Given the description of an element on the screen output the (x, y) to click on. 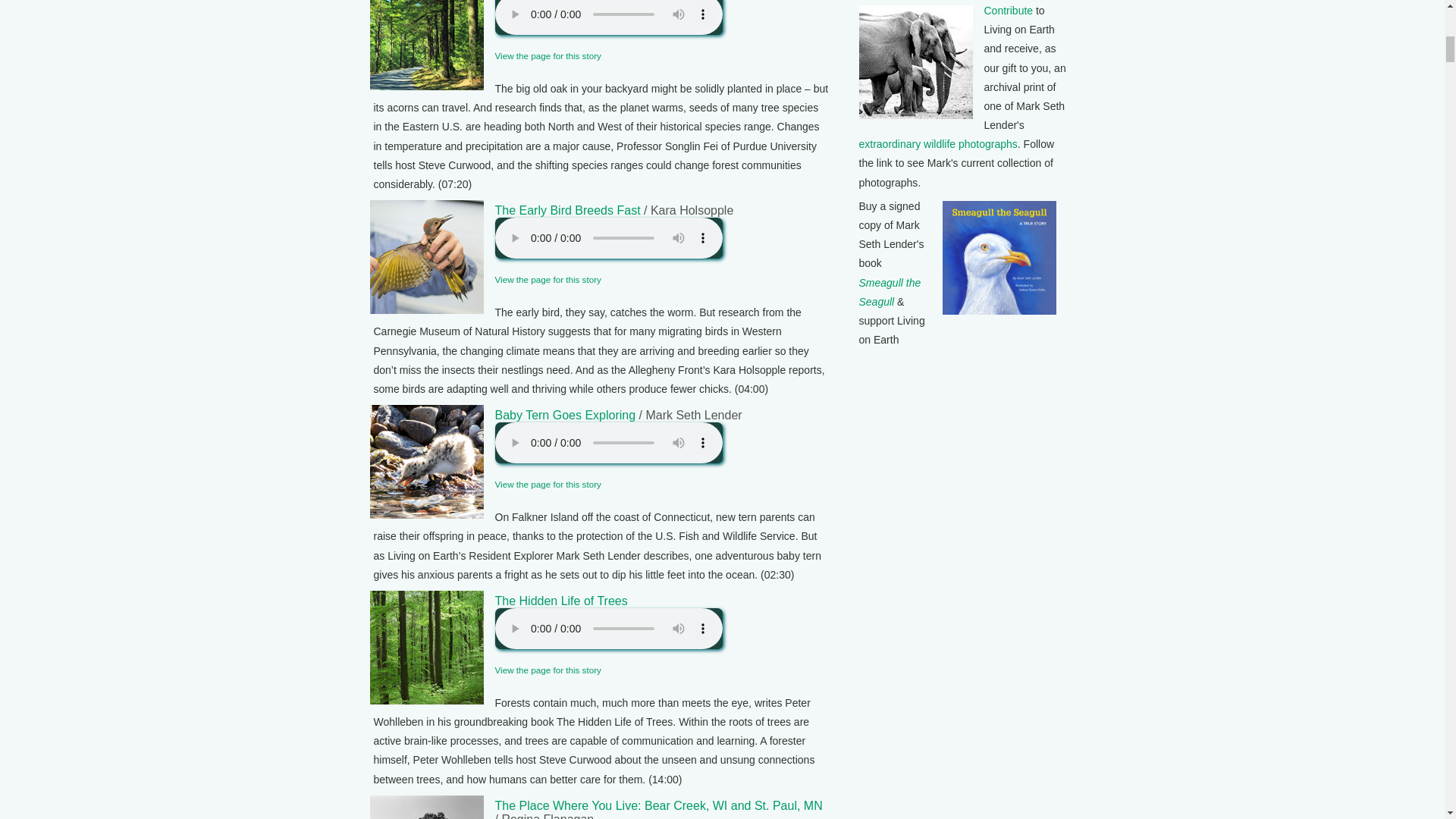
View the page for this story (547, 55)
View the page for this story (547, 669)
Baby Tern Goes Exploring (564, 414)
View the page for this story (547, 279)
The Early Bird Breeds Fast (567, 210)
The Hidden Life of Trees (561, 600)
View the page for this story (547, 483)
